Given the description of an element on the screen output the (x, y) to click on. 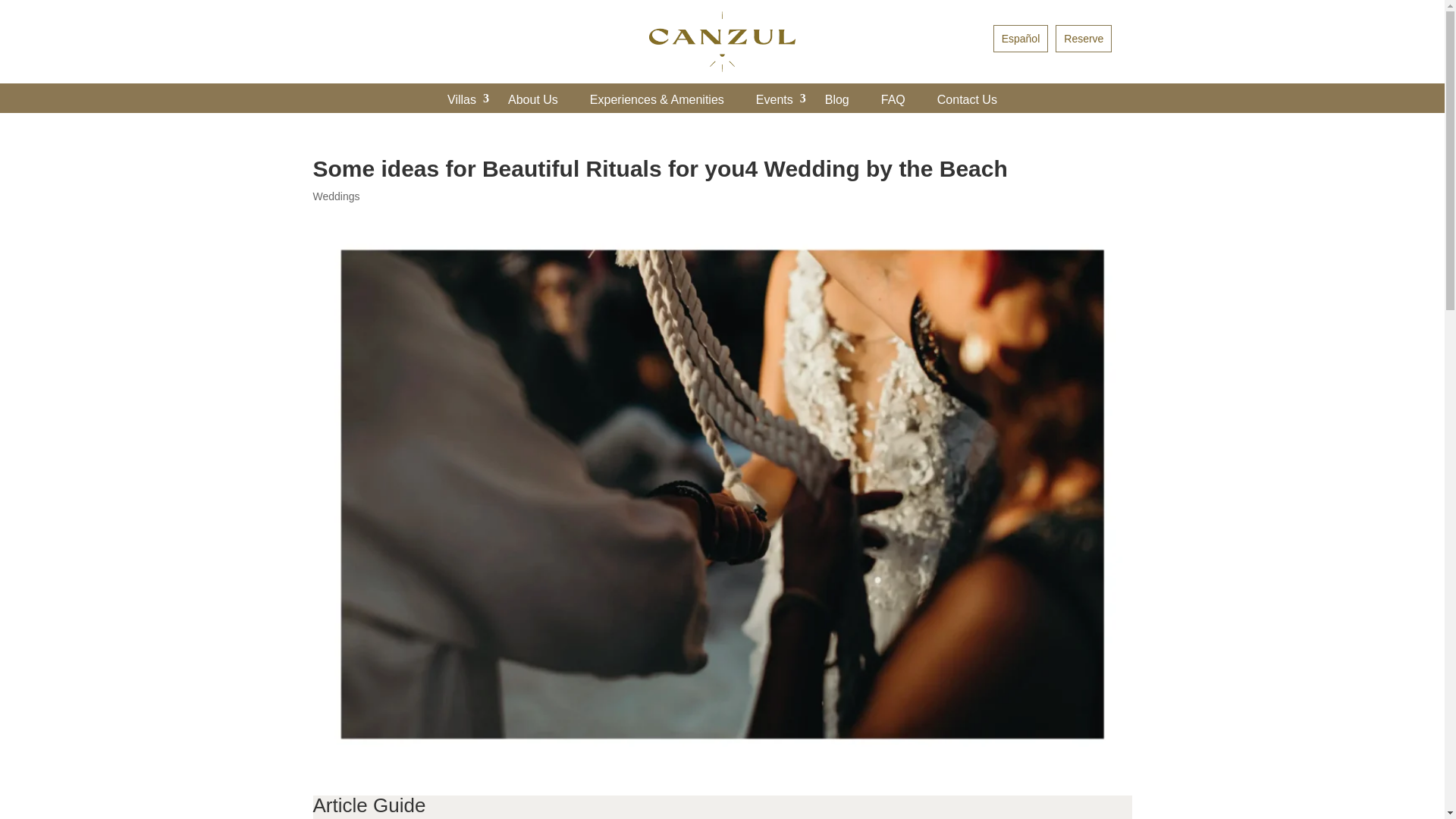
Reserve (1083, 38)
Events (774, 99)
FAQ (892, 99)
Blog (836, 99)
Villas (461, 99)
Canzul (721, 41)
About Us (533, 99)
Weddings (336, 196)
Contact Us (967, 99)
